Given the description of an element on the screen output the (x, y) to click on. 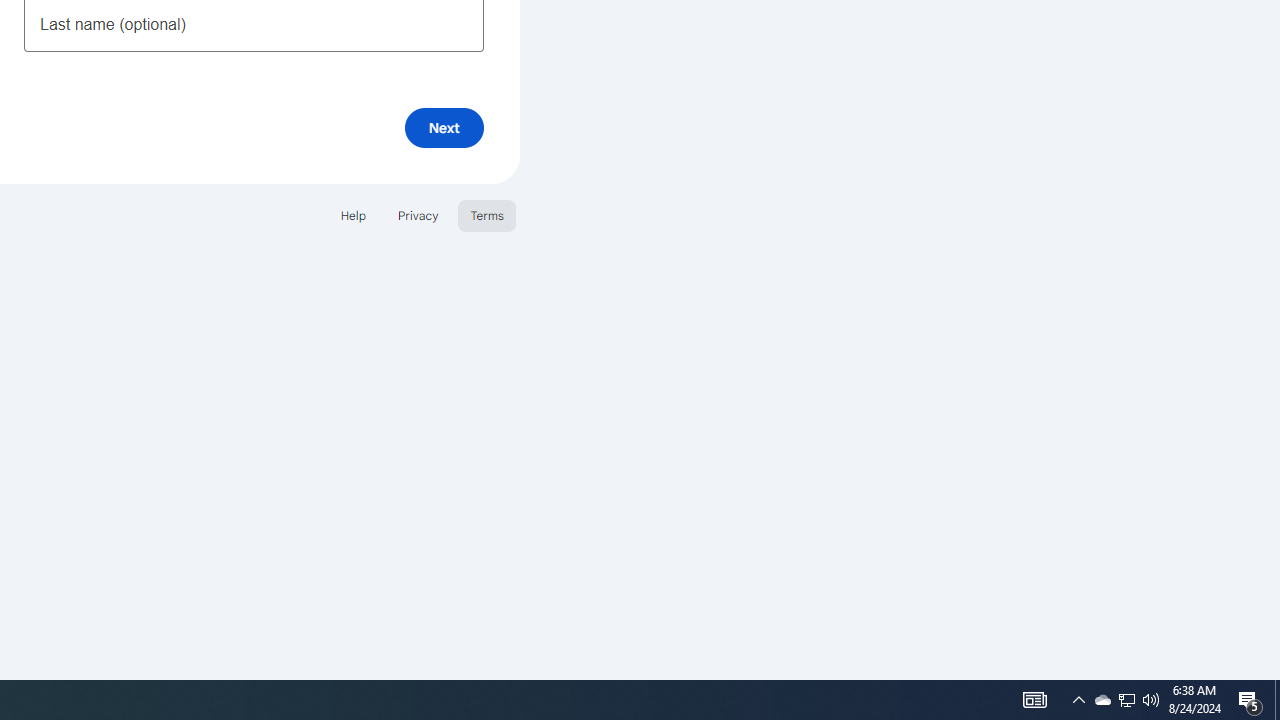
Next (443, 127)
Privacy (417, 214)
Terms (486, 214)
Help (352, 214)
